Given the description of an element on the screen output the (x, y) to click on. 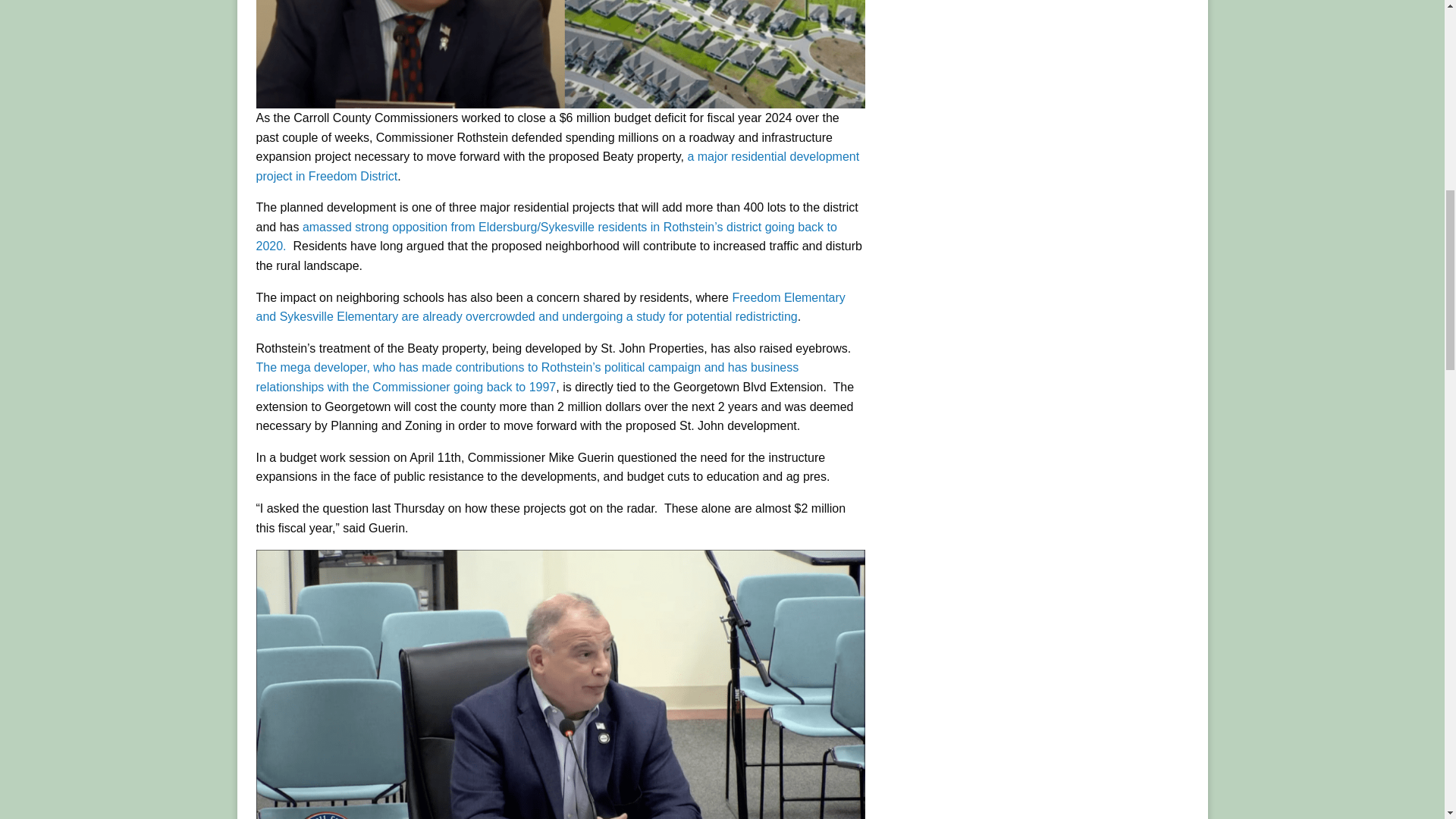
Advertisement (1049, 48)
